Given the description of an element on the screen output the (x, y) to click on. 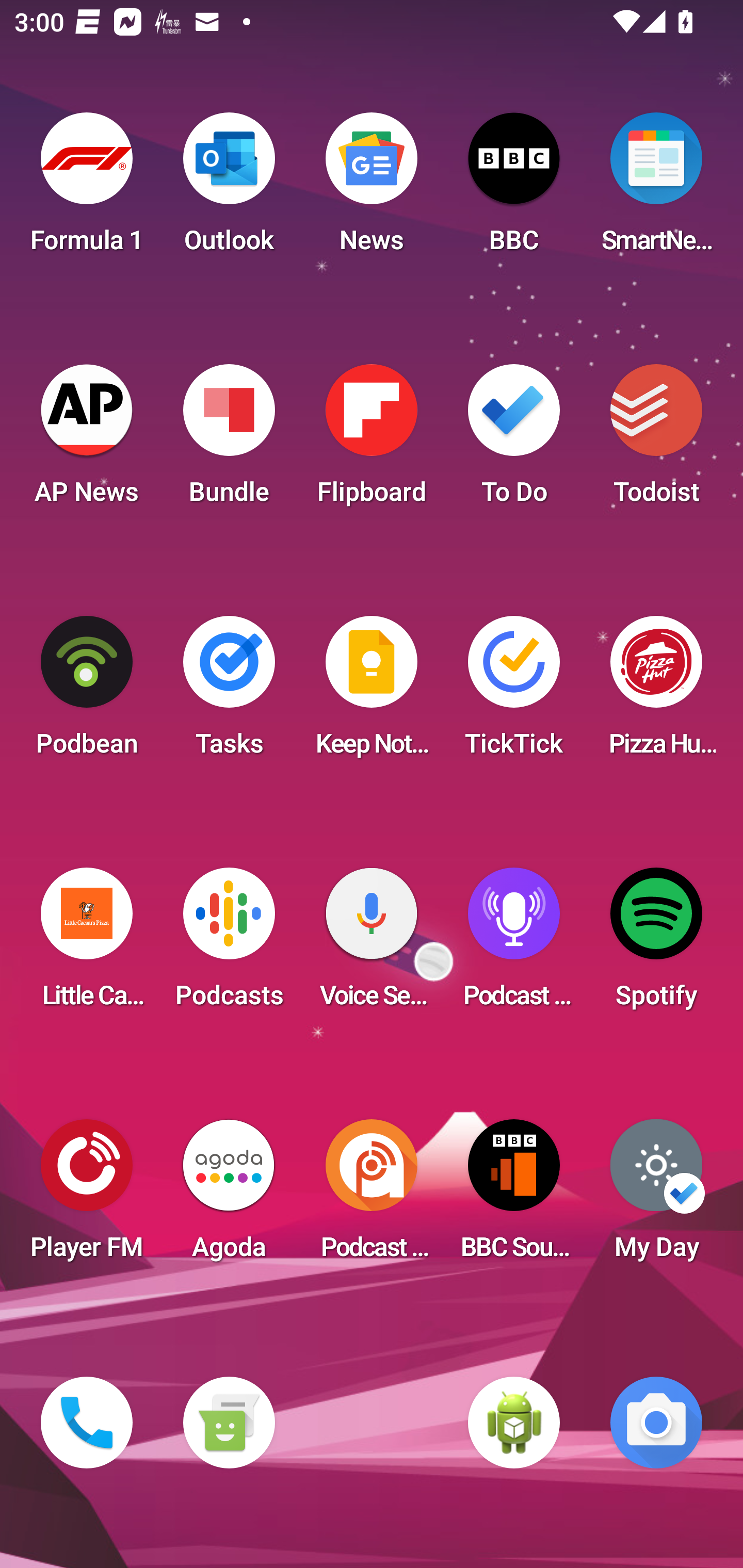
Formula 1 (86, 188)
Outlook (228, 188)
News (371, 188)
BBC (513, 188)
SmartNews (656, 188)
AP News (86, 440)
Bundle (228, 440)
Flipboard (371, 440)
To Do (513, 440)
Todoist (656, 440)
Podbean (86, 692)
Tasks (228, 692)
Keep Notes (371, 692)
TickTick (513, 692)
Pizza Hut HK & Macau (656, 692)
Little Caesars Pizza (86, 943)
Podcasts (228, 943)
Voice Search (371, 943)
Podcast Player (513, 943)
Spotify (656, 943)
Player FM (86, 1195)
Agoda (228, 1195)
Podcast Addict (371, 1195)
BBC Sounds (513, 1195)
My Day (656, 1195)
Phone (86, 1422)
Messaging (228, 1422)
WebView Browser Tester (513, 1422)
Camera (656, 1422)
